Given the description of an element on the screen output the (x, y) to click on. 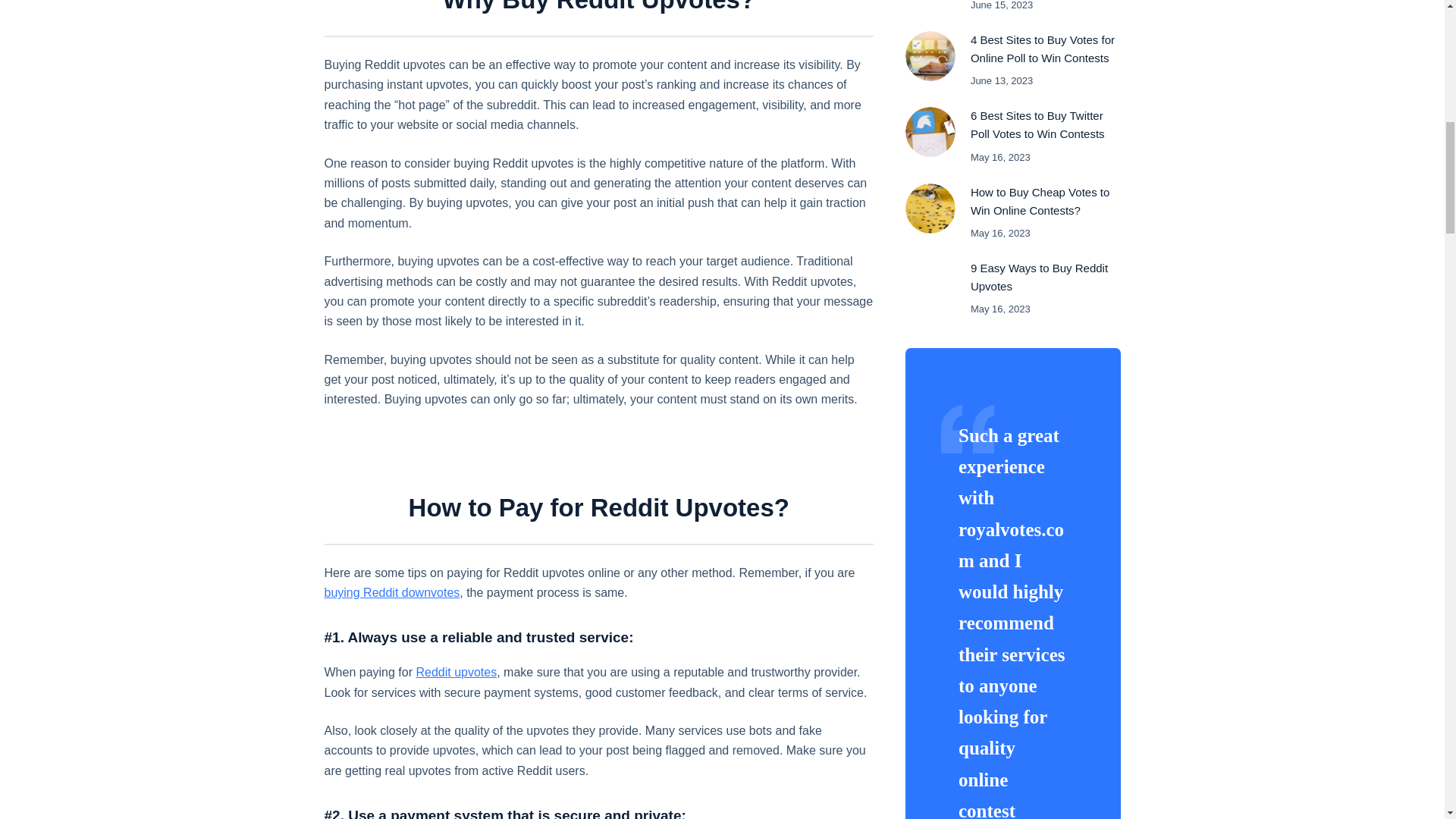
buying Reddit downvotes (392, 592)
Reddit upvotes (455, 671)
